Given the description of an element on the screen output the (x, y) to click on. 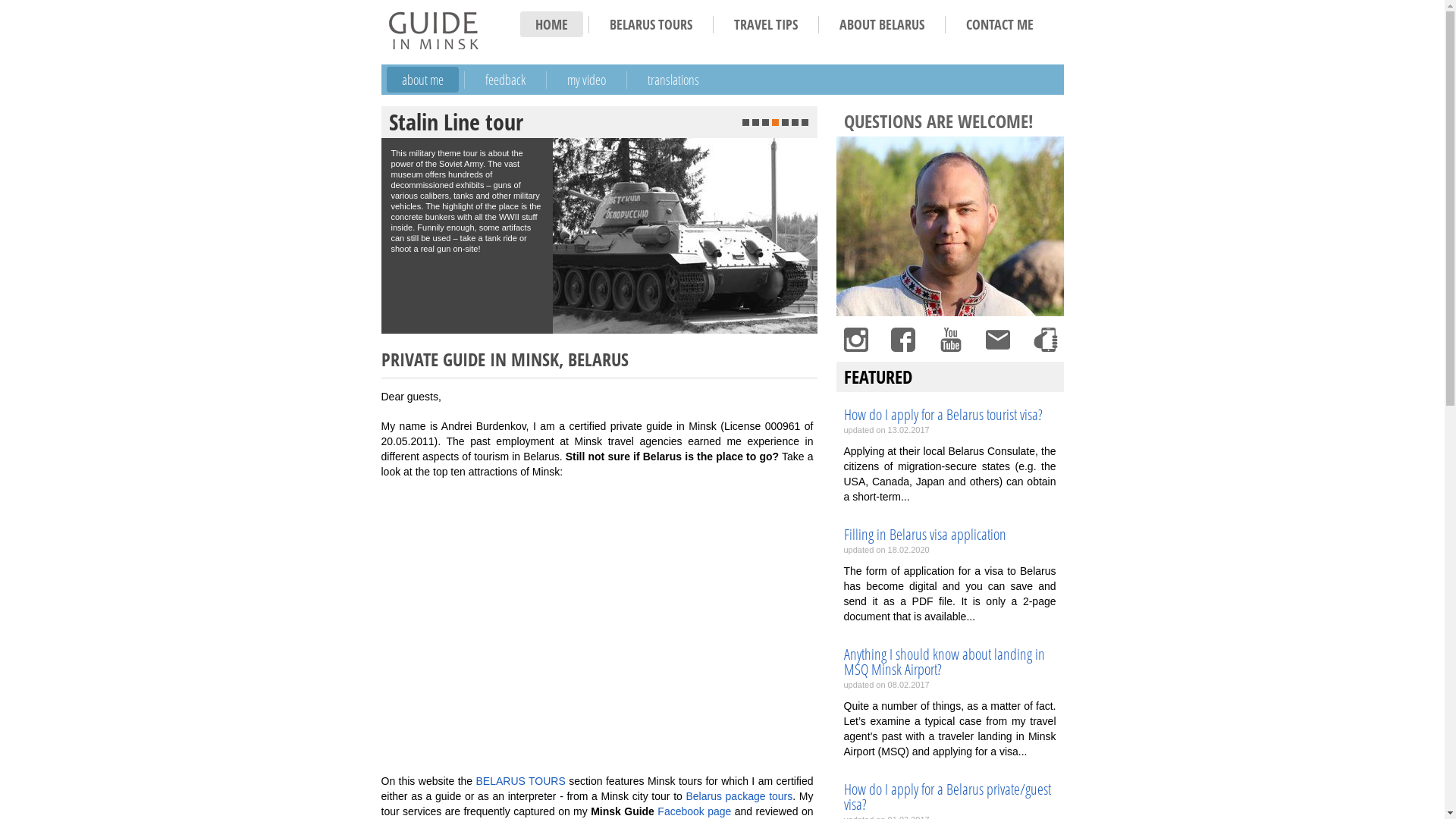
Visit my Youtube page Element type: hover (950, 339)
ABOUT BELARUS Element type: text (880, 24)
feedback Element type: text (505, 79)
Facebook page Element type: text (694, 811)
Give me a call Element type: hover (1044, 339)
How do I apply for a Belarus tourist visa? Element type: text (949, 414)
Belarus package tours Element type: text (738, 796)
translations Element type: text (673, 79)
Visit my Instagram page Element type: hover (854, 339)
CONTACT ME Element type: text (999, 24)
HOME Element type: text (551, 24)
BELARUS TOURS Element type: text (520, 781)
Filling in Belarus visa application Element type: text (949, 534)
about me Element type: text (422, 79)
Anything I should know about landing in MSQ Minsk Airport? Element type: text (949, 661)
Visit my Facebook page Element type: hover (902, 339)
my video Element type: text (586, 79)
Private tours from a certified Minsk guide Element type: hover (432, 30)
How do I apply for a Belarus private/guest visa? Element type: text (949, 796)
BELARUS TOURS Element type: text (650, 24)
TRAVEL TIPS Element type: text (765, 24)
Drop me a message Element type: hover (997, 339)
